Given the description of an element on the screen output the (x, y) to click on. 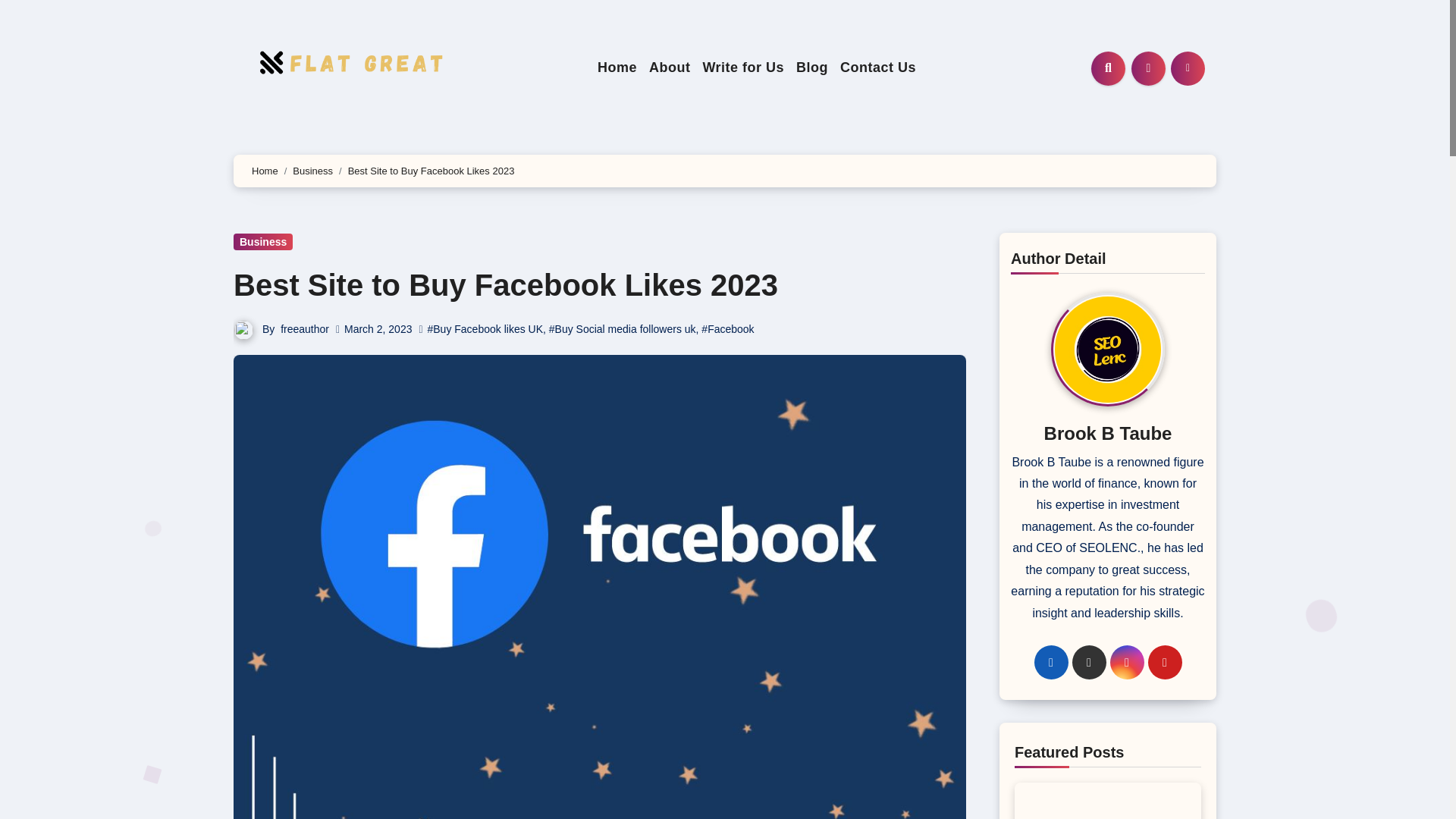
Write for Us (742, 67)
About (669, 67)
Blog (812, 67)
Best Site to Buy Facebook Likes 2023 (504, 285)
Write for Us (742, 67)
Contact Us (877, 67)
Business (262, 241)
Home (264, 170)
freeauthor (305, 328)
Permalink to: Best Site to Buy Facebook Likes 2023 (504, 285)
